Given the description of an element on the screen output the (x, y) to click on. 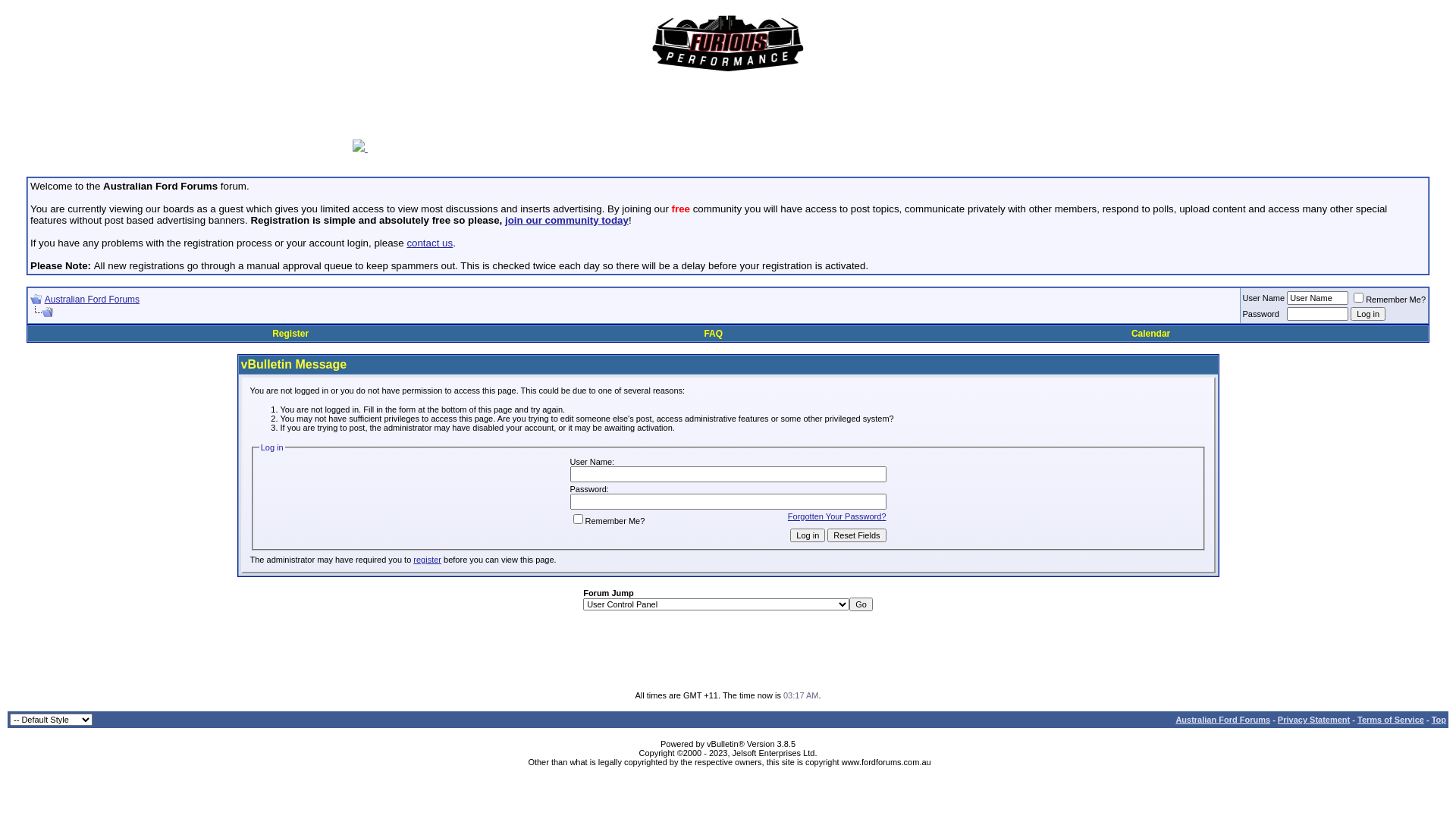
Top Element type: text (1438, 719)
register Element type: text (427, 559)
Go Element type: text (860, 604)
FAQ Element type: text (712, 333)
Privacy Statement Element type: text (1313, 719)
Calendar Element type: text (1150, 333)
join our community today Element type: text (566, 219)
Go Back Element type: hover (35, 298)
Forgotten Your Password? Element type: text (836, 515)
Register Element type: text (290, 333)
Furious Performance Element type: hover (727, 43)
Log in Element type: text (1367, 313)
Reload this Page Element type: hover (41, 311)
Advertisement Element type: hover (735, 117)
Australian Ford Forums Element type: text (1222, 719)
Advertisement Element type: hover (727, 656)
Log in Element type: text (807, 534)
Terms of Service Element type: text (1390, 719)
Australian Ford Forums Element type: text (91, 299)
contact us Element type: text (429, 242)
